Given the description of an element on the screen output the (x, y) to click on. 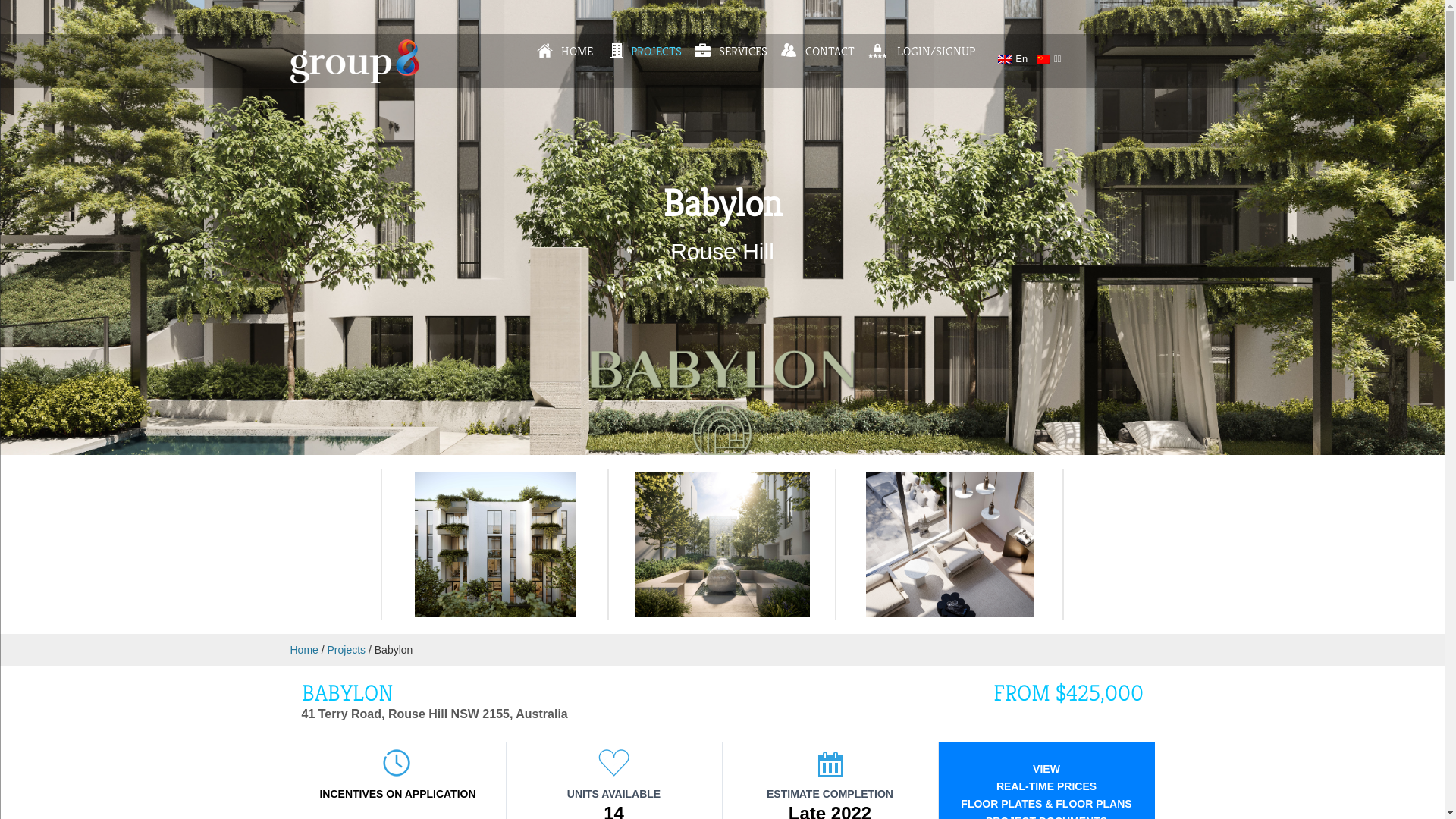
Home Element type: text (303, 649)
Group8 Element type: hover (353, 79)
PROJECTS Element type: text (643, 51)
HOME Element type: text (564, 51)
CONTACT Element type: text (817, 51)
LOGIN/SIGNUP Element type: text (921, 51)
Projects Element type: text (346, 649)
SKIP TO CONTENT Element type: text (450, 43)
En Element type: text (1012, 58)
SERVICES Element type: text (730, 51)
